Given the description of an element on the screen output the (x, y) to click on. 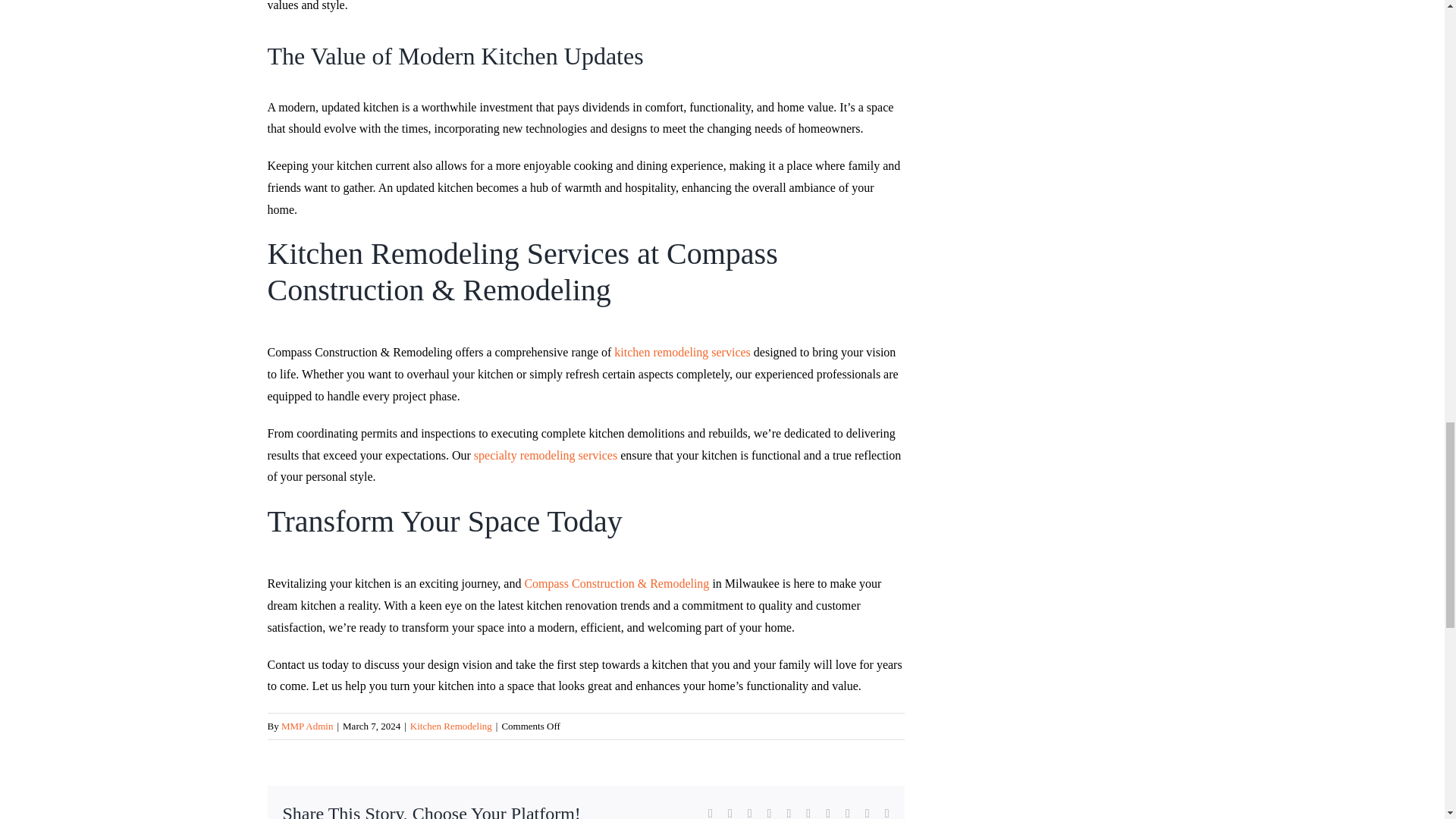
Posts by MMP Admin (307, 726)
